Given the description of an element on the screen output the (x, y) to click on. 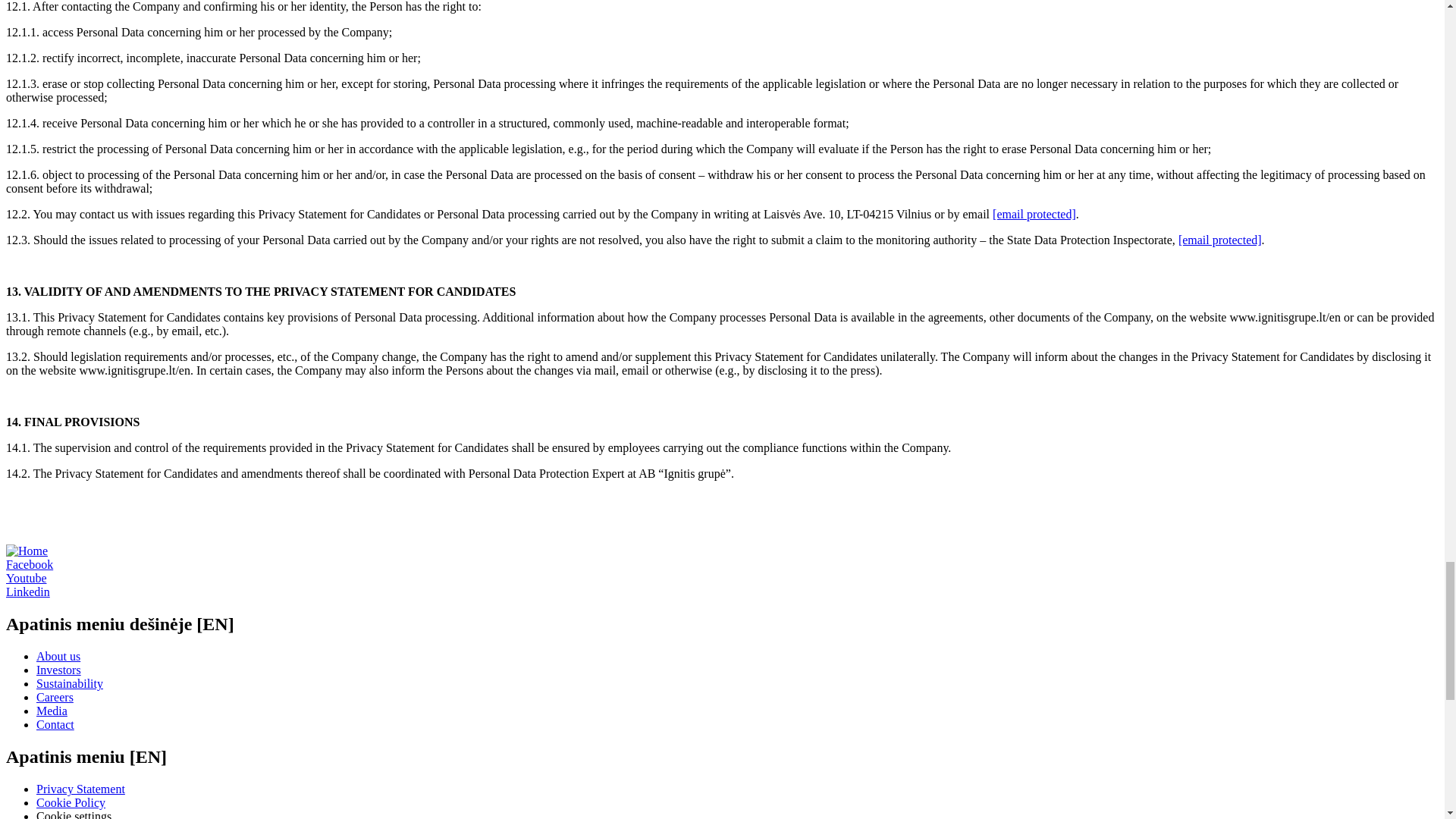
Home (26, 550)
